Given the description of an element on the screen output the (x, y) to click on. 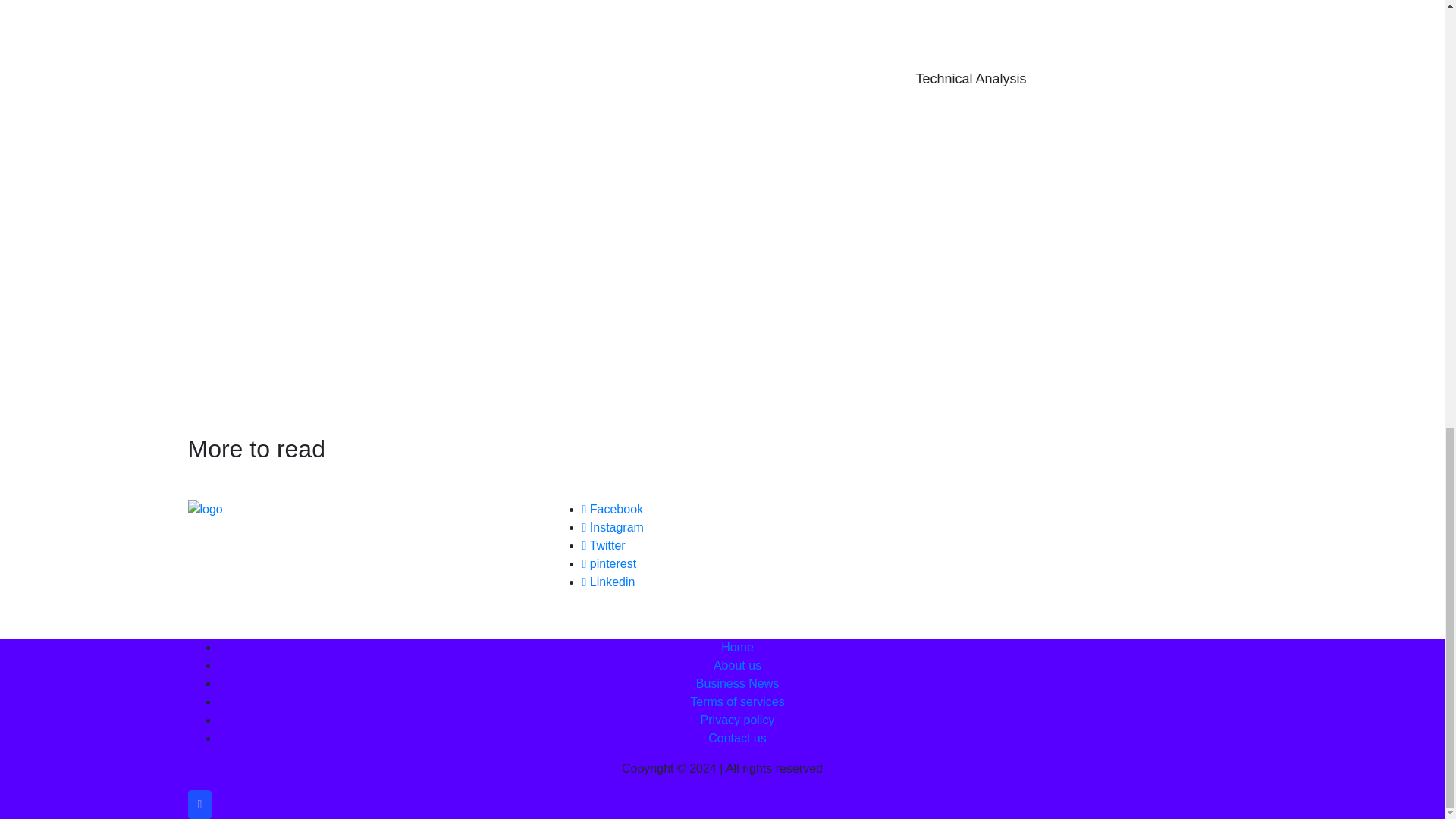
technical analysis TradingView widget (1086, 246)
